Given the description of an element on the screen output the (x, y) to click on. 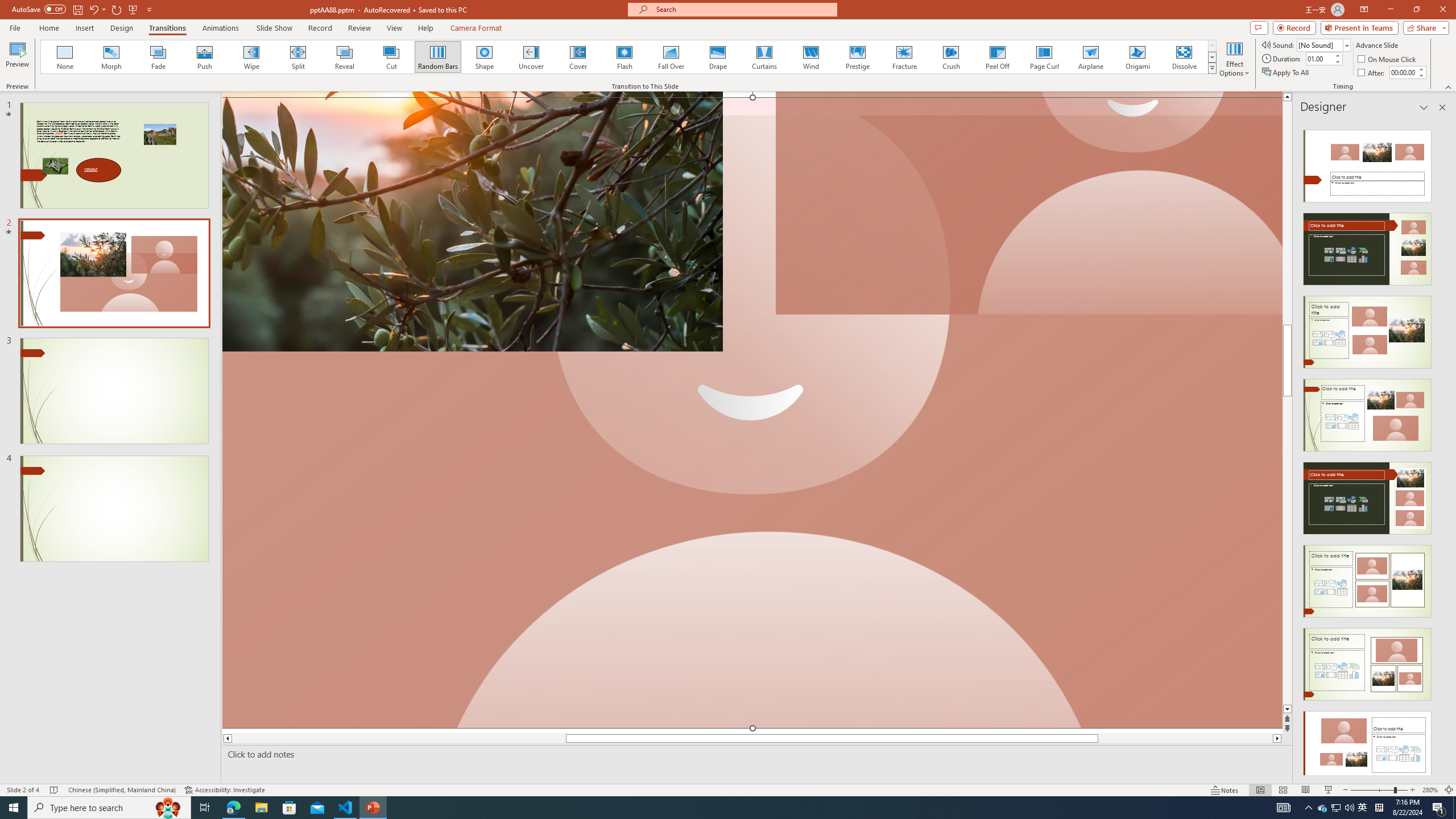
Design Idea (1366, 743)
Fade (158, 56)
Camera 13, No camera detected. (752, 412)
Sound (1324, 44)
After (1403, 72)
